Given the description of an element on the screen output the (x, y) to click on. 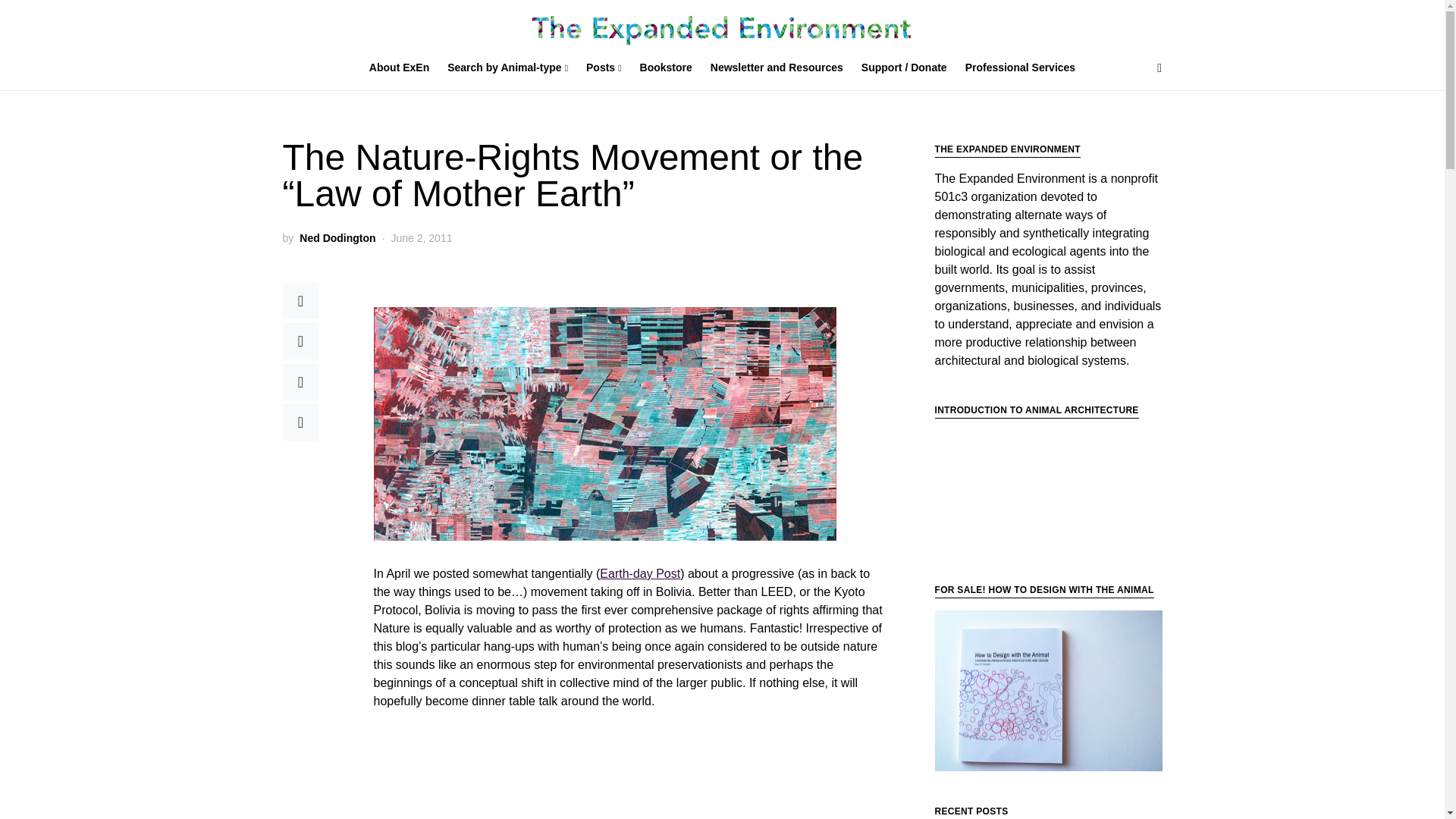
scottpanels (1047, 691)
About ExEn (403, 67)
Bookstore (665, 67)
Search by Animal-type (507, 67)
Professional Services (1015, 67)
boliviaDeforestation (603, 423)
View all posts by Ned Dodington (337, 238)
Posts (603, 67)
Newsletter and Resources (776, 67)
